Given the description of an element on the screen output the (x, y) to click on. 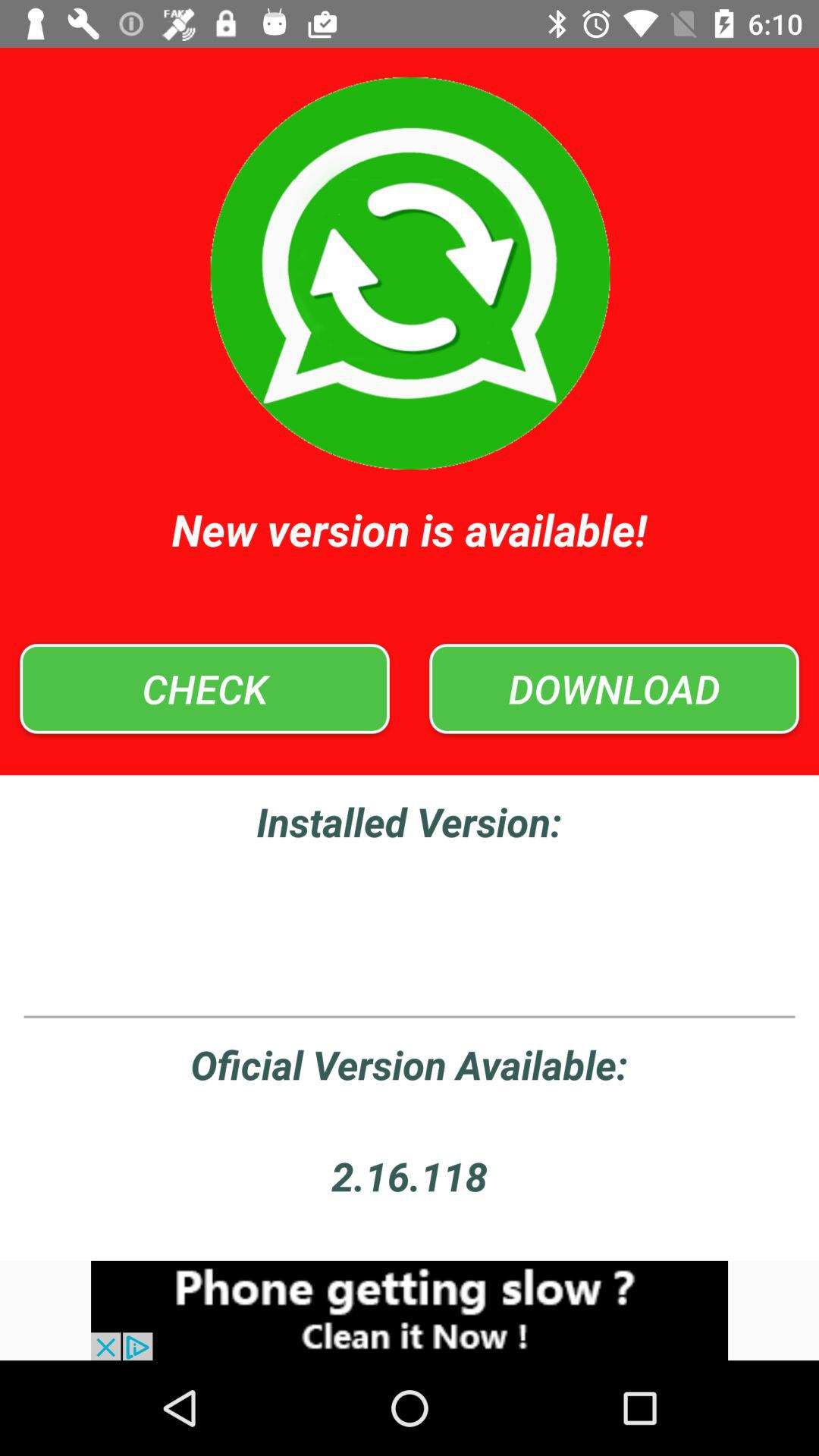
open the advertisement (409, 1310)
